Given the description of an element on the screen output the (x, y) to click on. 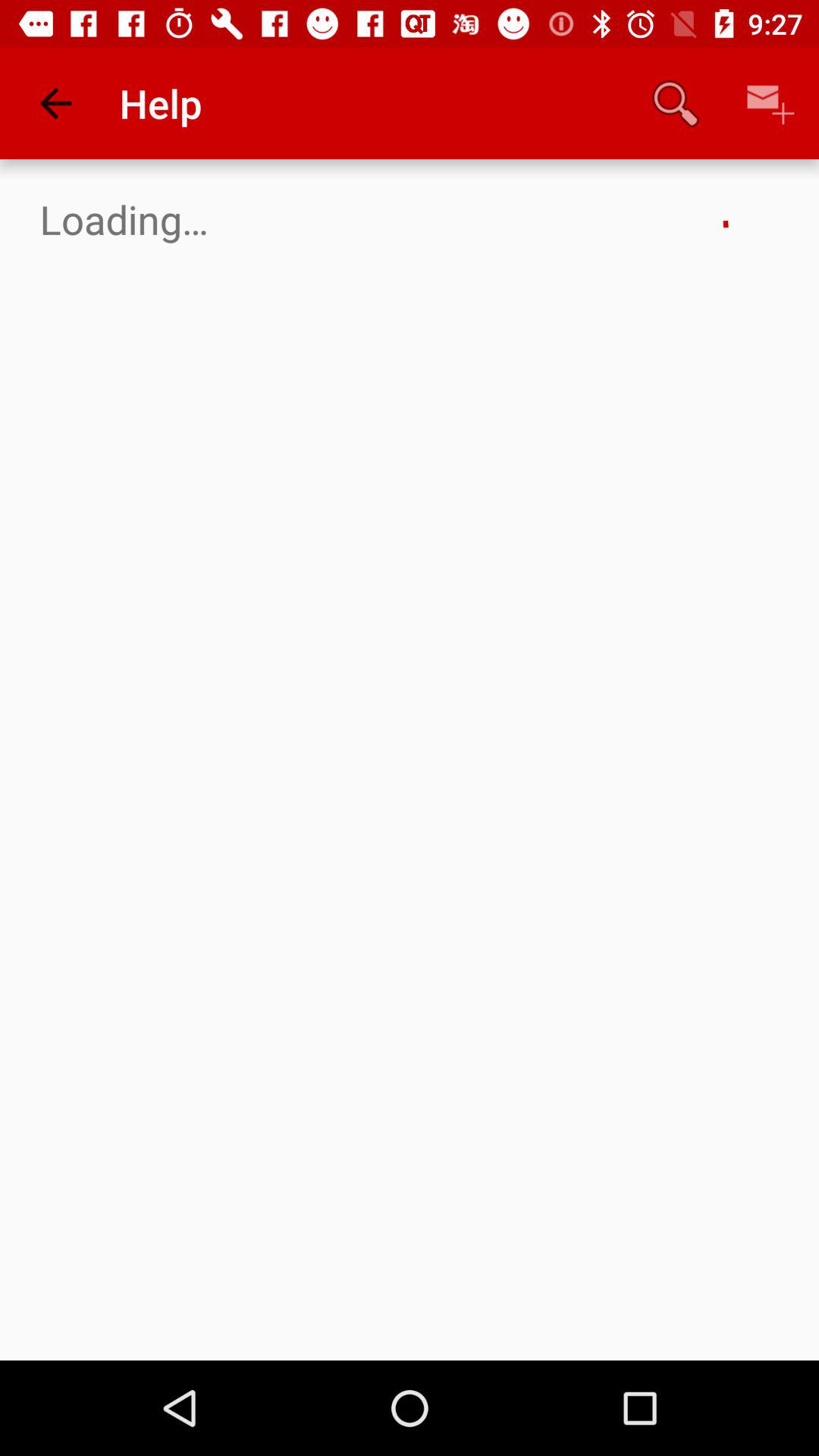
turn off the app next to the help item (675, 103)
